Given the description of an element on the screen output the (x, y) to click on. 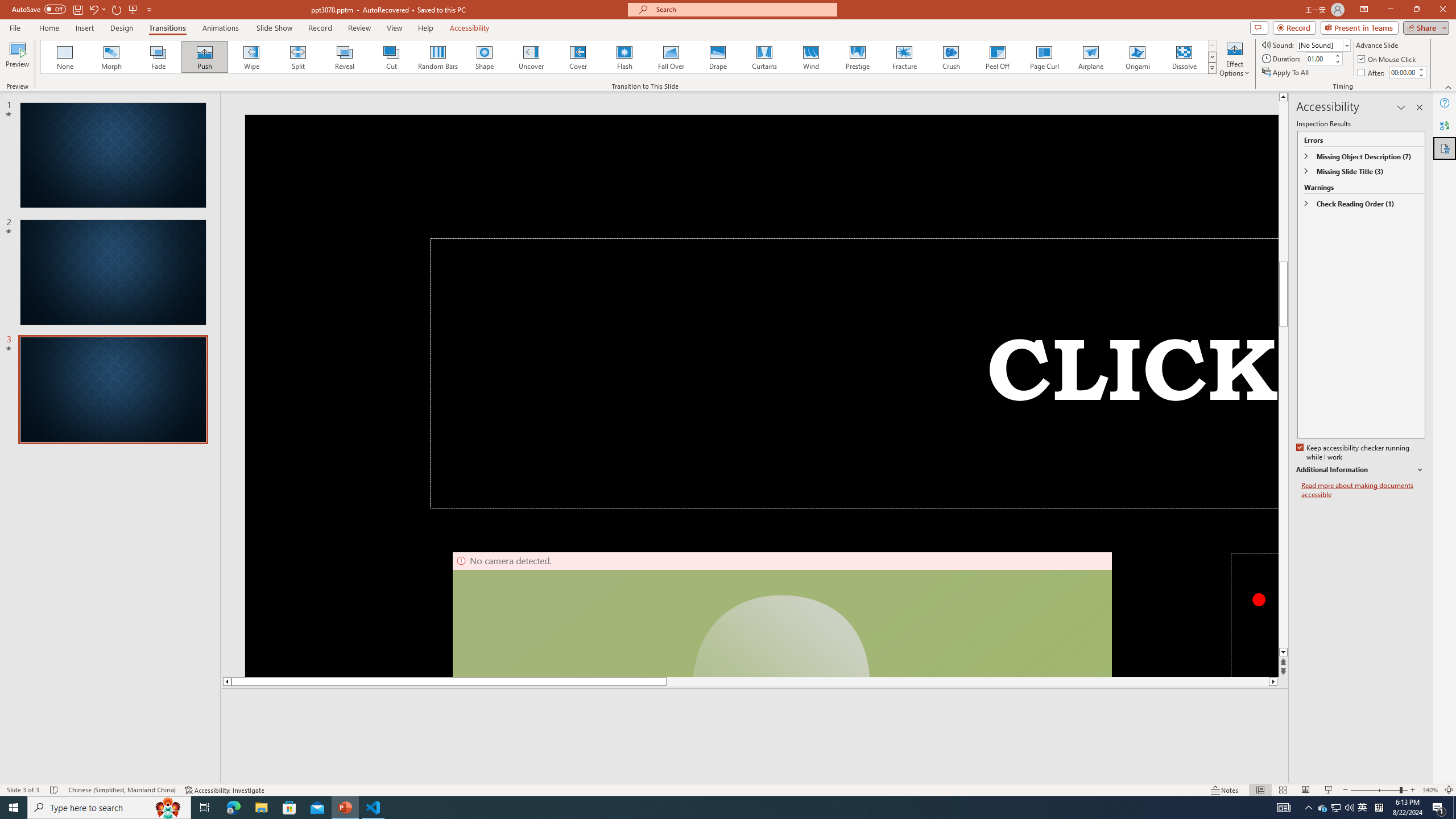
Fall Over (670, 56)
Random Bars (437, 56)
Sound (1324, 44)
Curtains (764, 56)
